Given the description of an element on the screen output the (x, y) to click on. 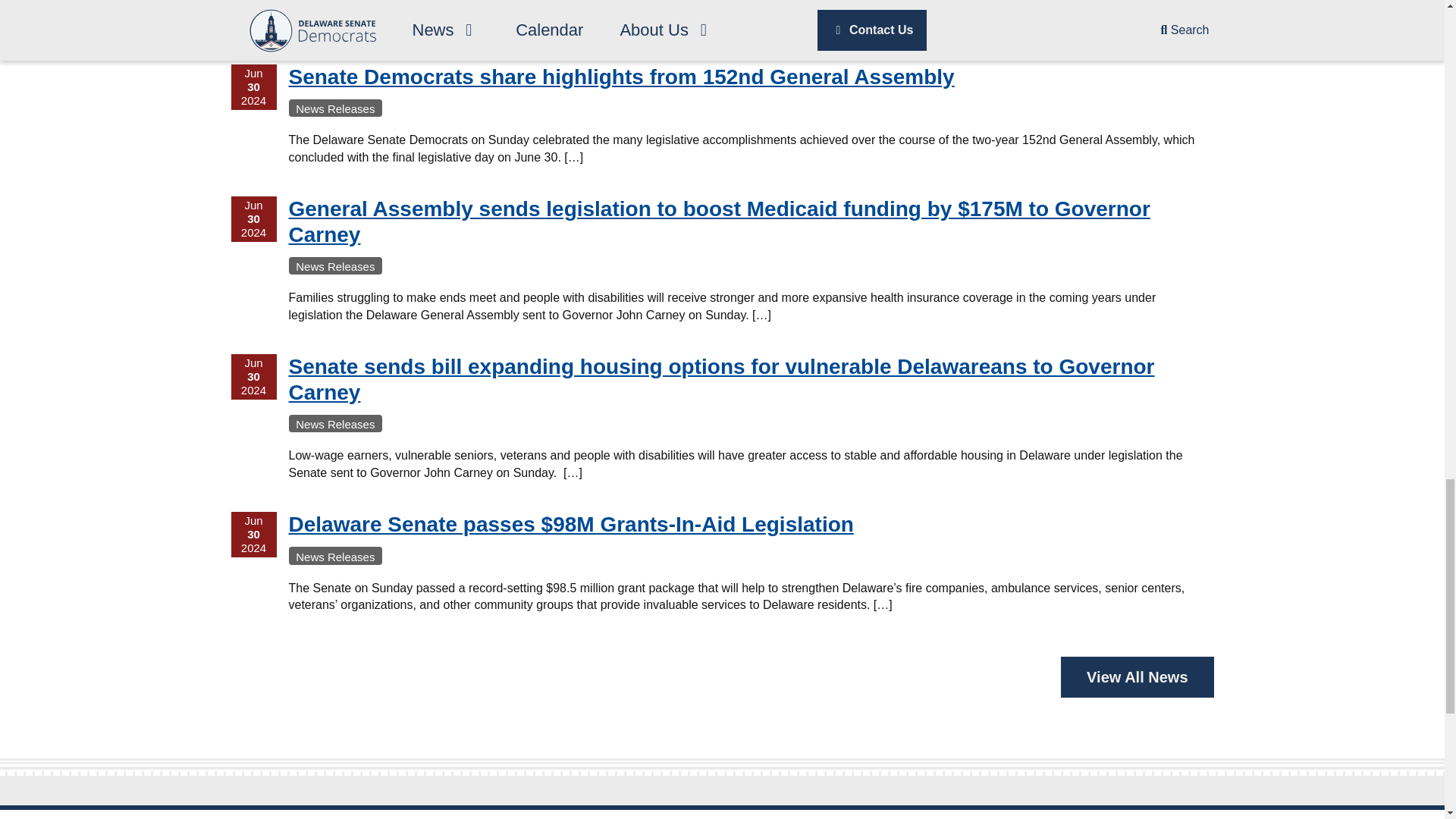
News Releases (334, 108)
